Given the description of an element on the screen output the (x, y) to click on. 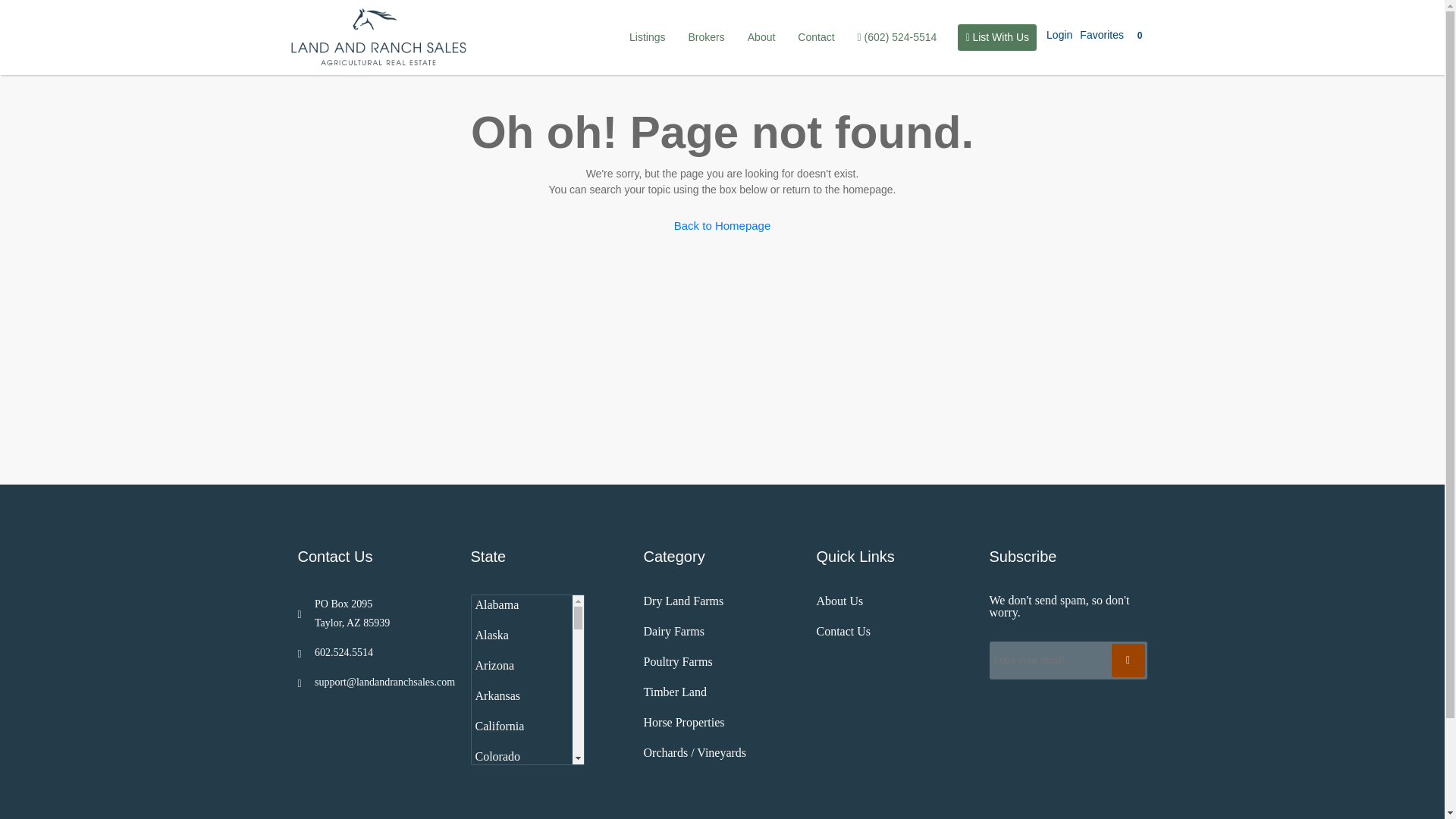
Alaska (520, 634)
Back to Homepage (722, 225)
Alabama (520, 608)
Arkansas (520, 695)
Contact (815, 36)
Login (1063, 34)
602.524.5514 (375, 651)
Delaware (520, 810)
Favorites 0 (1117, 34)
Arizona (520, 665)
